Given the description of an element on the screen output the (x, y) to click on. 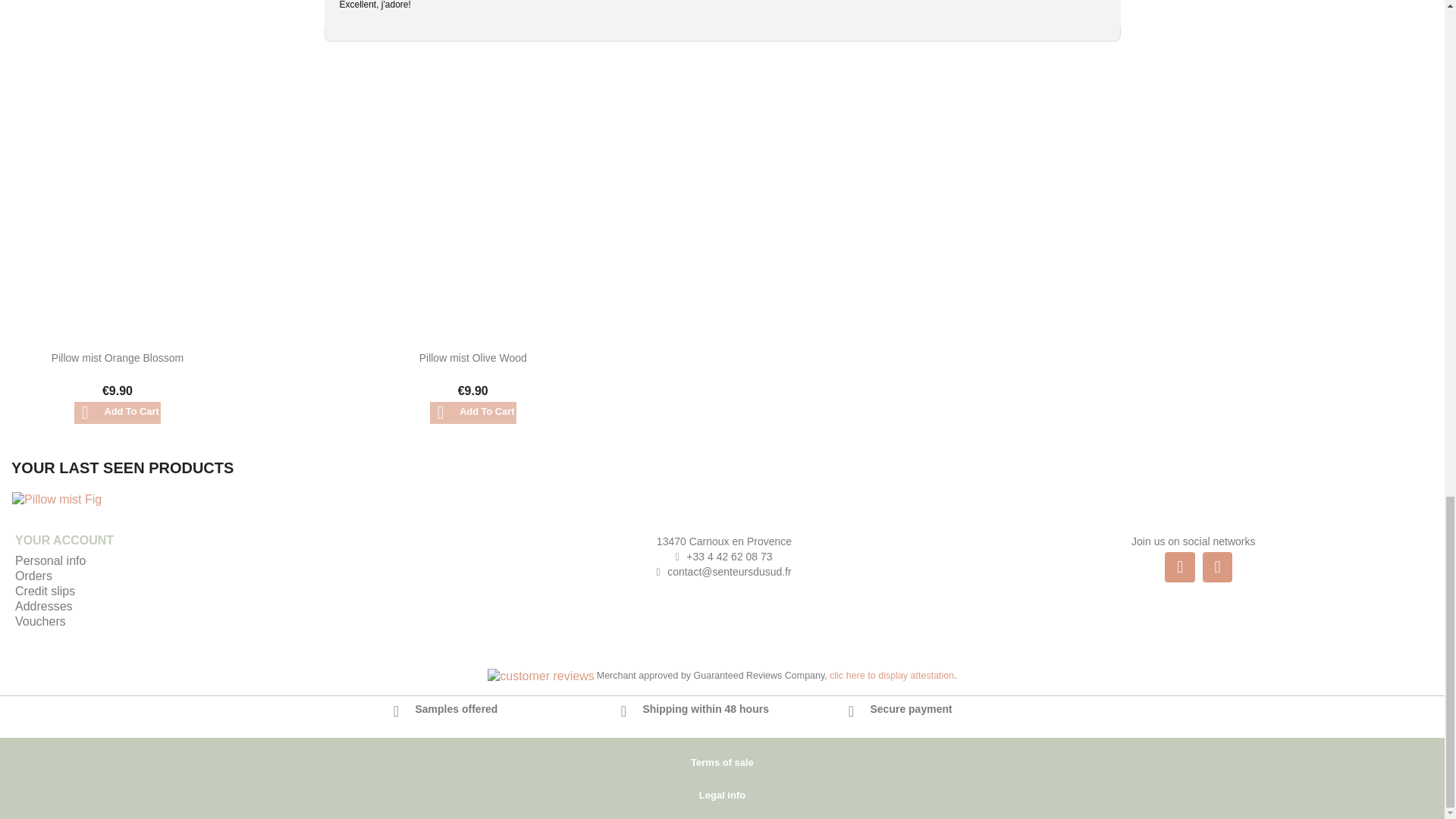
Pillow mist Fig (94, 499)
Personal info (49, 560)
Credit slips (44, 590)
Vouchers (39, 621)
Orders (33, 575)
Addresses (43, 605)
